Given the description of an element on the screen output the (x, y) to click on. 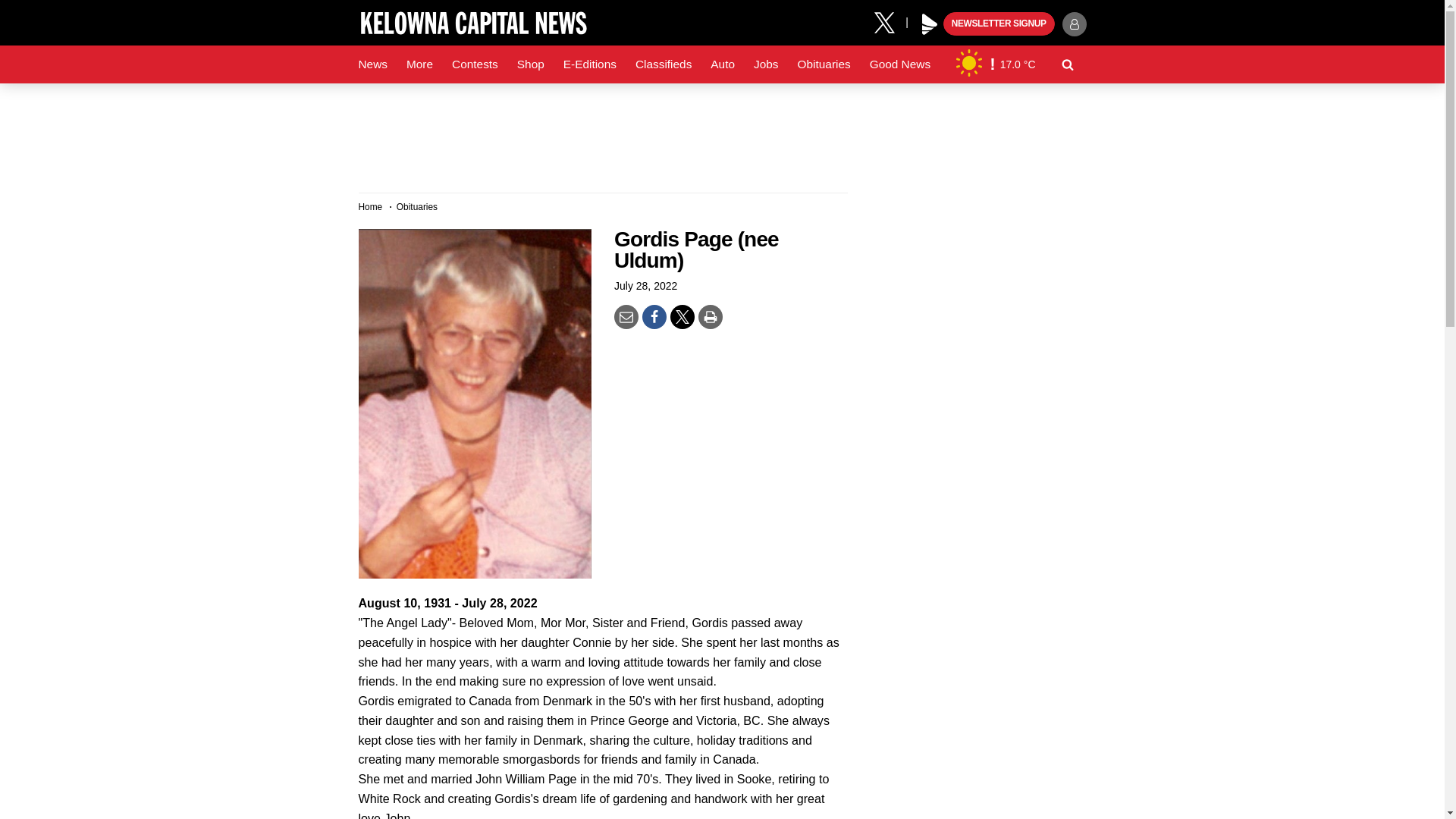
X (889, 21)
News (372, 64)
Play (929, 24)
NEWSLETTER SIGNUP (998, 24)
Black Press Media (929, 24)
